Given the description of an element on the screen output the (x, y) to click on. 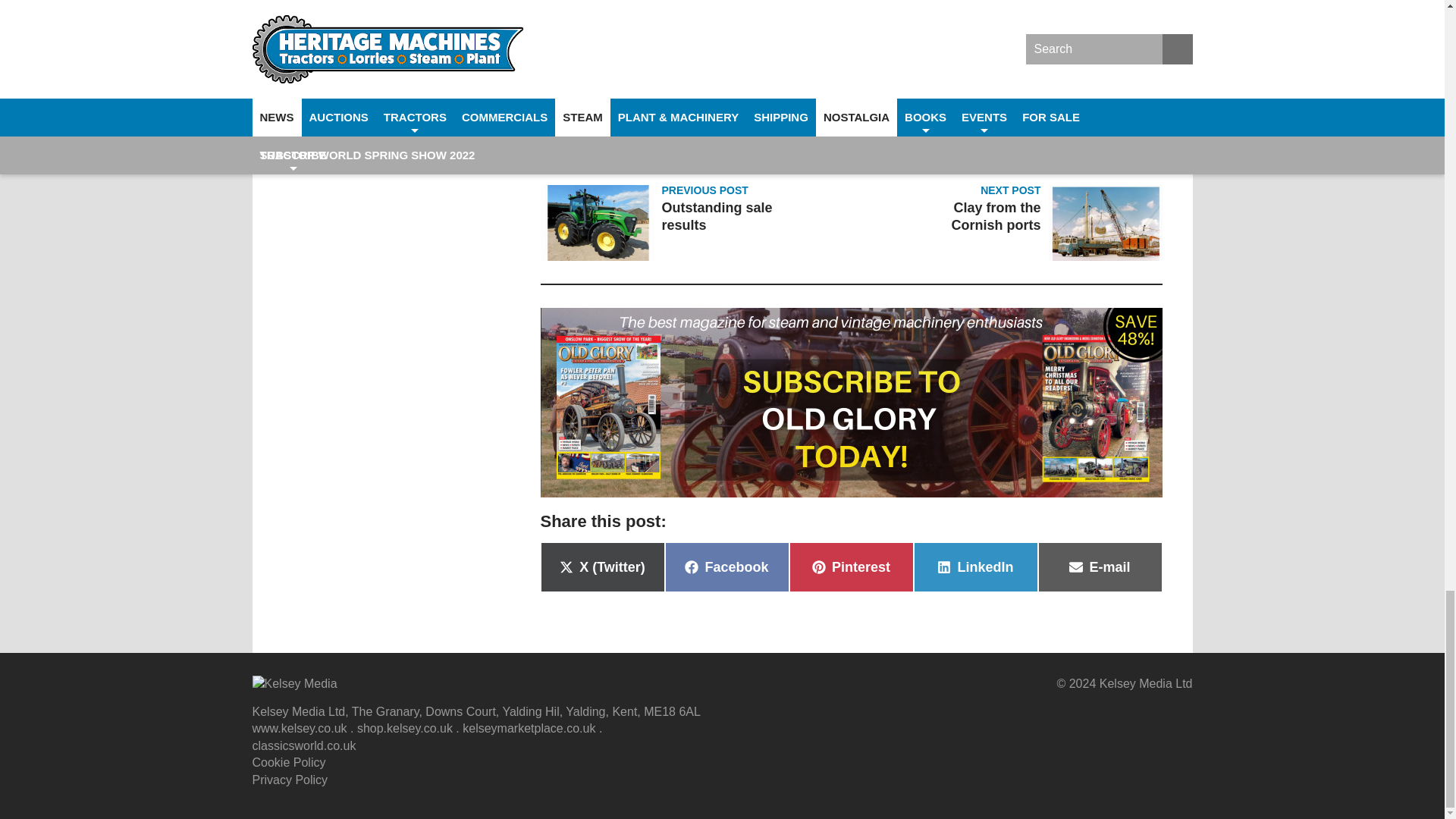
Narrow Gauge Steam (734, 100)
Puffing Billy (840, 100)
Bowaters (636, 100)
Railways of Britain (937, 100)
